Given the description of an element on the screen output the (x, y) to click on. 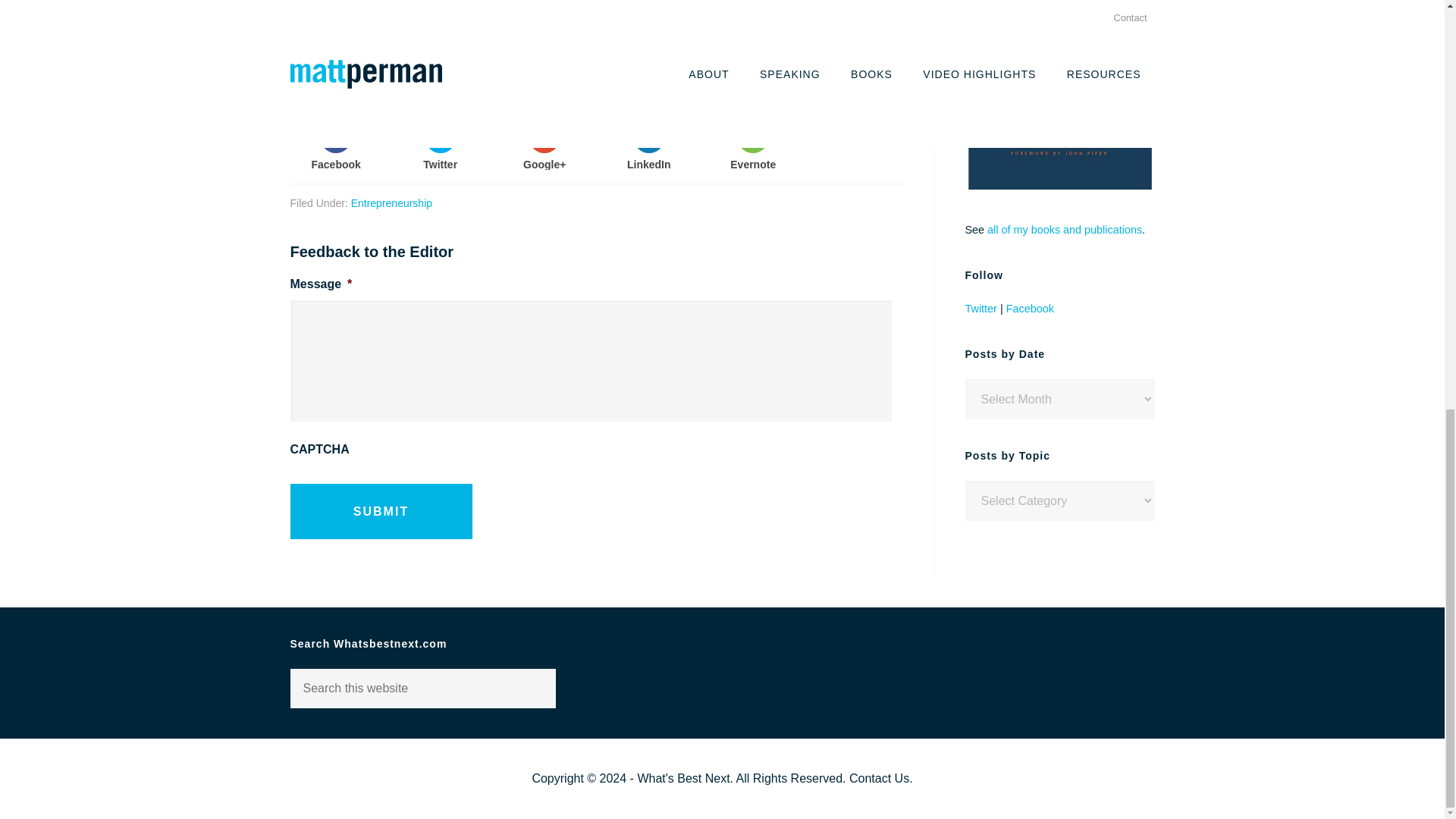
Contact Us (878, 778)
Twitter (979, 308)
Facebook (1030, 308)
Facebook (335, 145)
Twitter (440, 145)
Submit (380, 511)
LinkedIn (648, 145)
all of my books and publications (1064, 229)
Submit (380, 511)
Evernote (753, 145)
Entrepreneurship (391, 203)
